Given the description of an element on the screen output the (x, y) to click on. 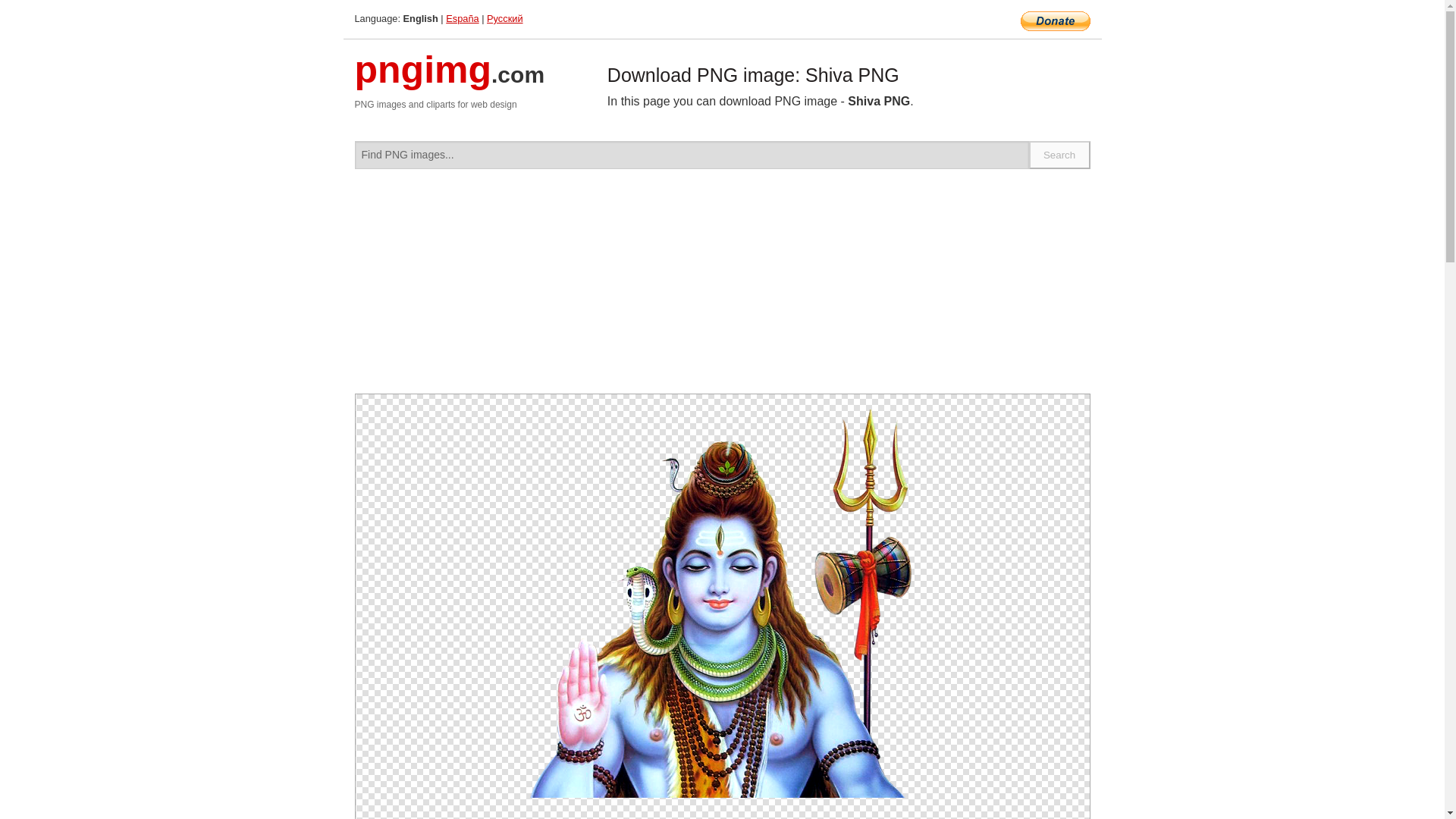
Search (1059, 154)
pngimg.com (449, 78)
Search (1059, 154)
